Given the description of an element on the screen output the (x, y) to click on. 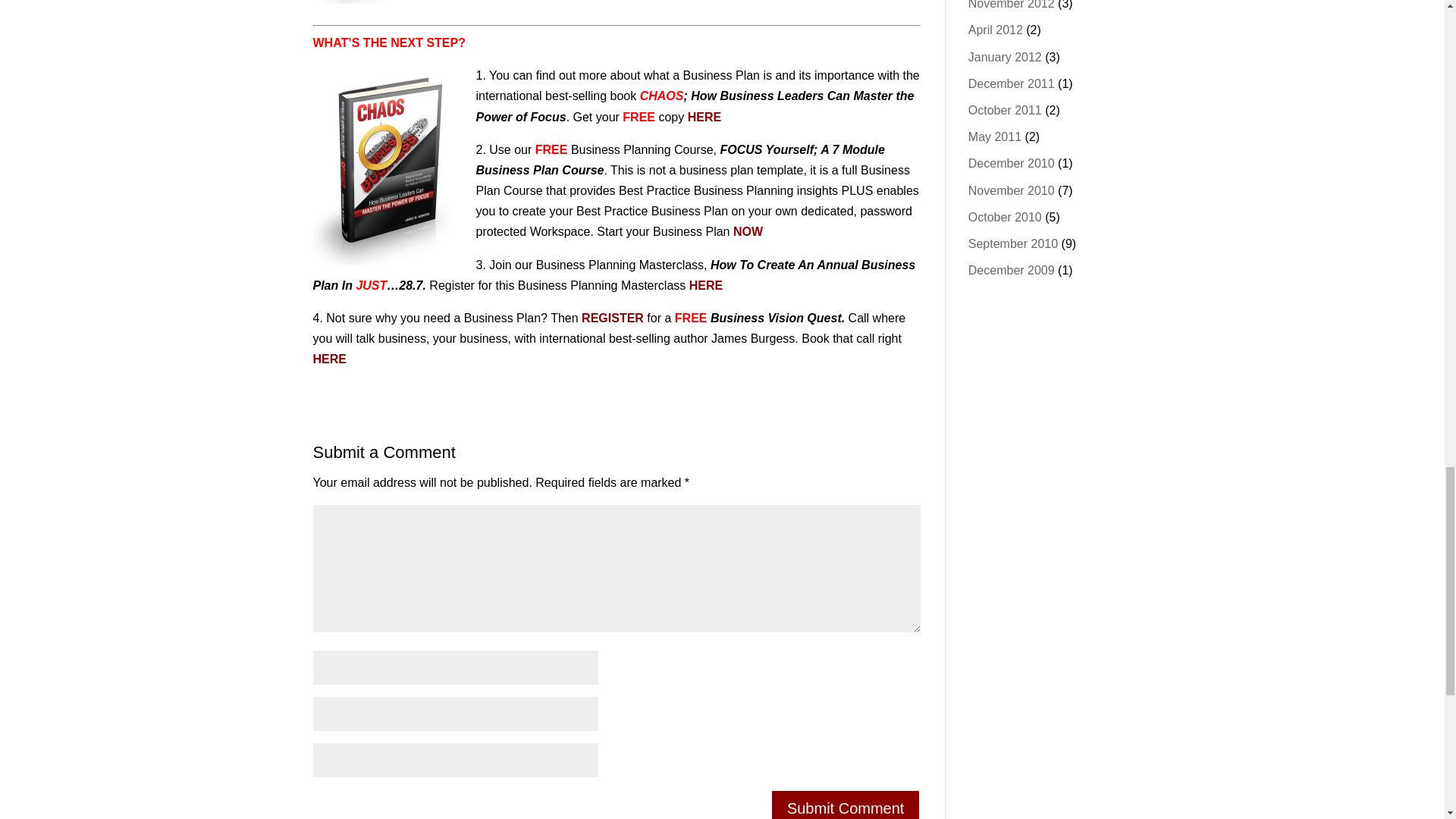
Submit Comment (845, 804)
HERE (703, 116)
